Given the description of an element on the screen output the (x, y) to click on. 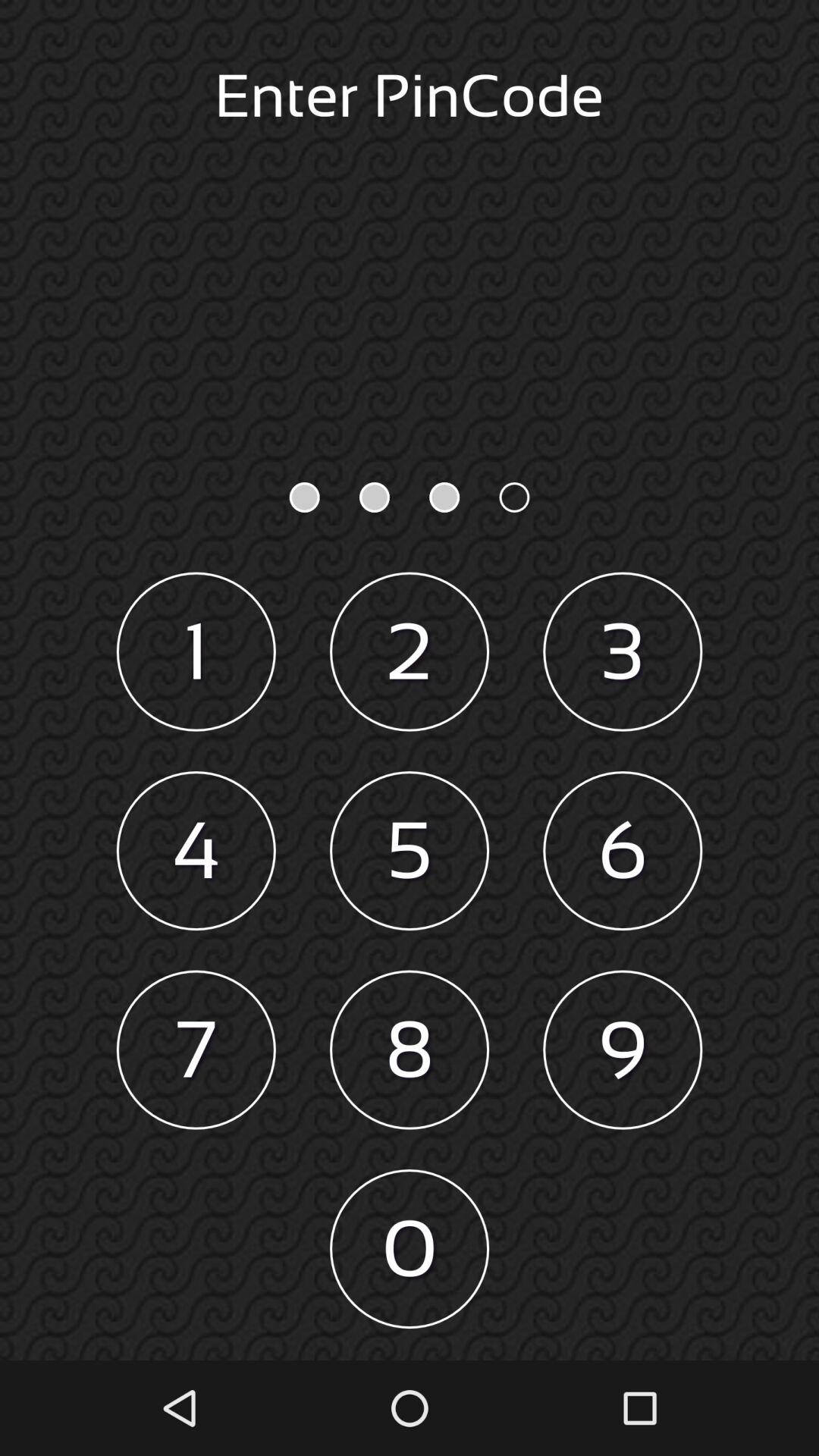
flip until the 8 (409, 1049)
